Given the description of an element on the screen output the (x, y) to click on. 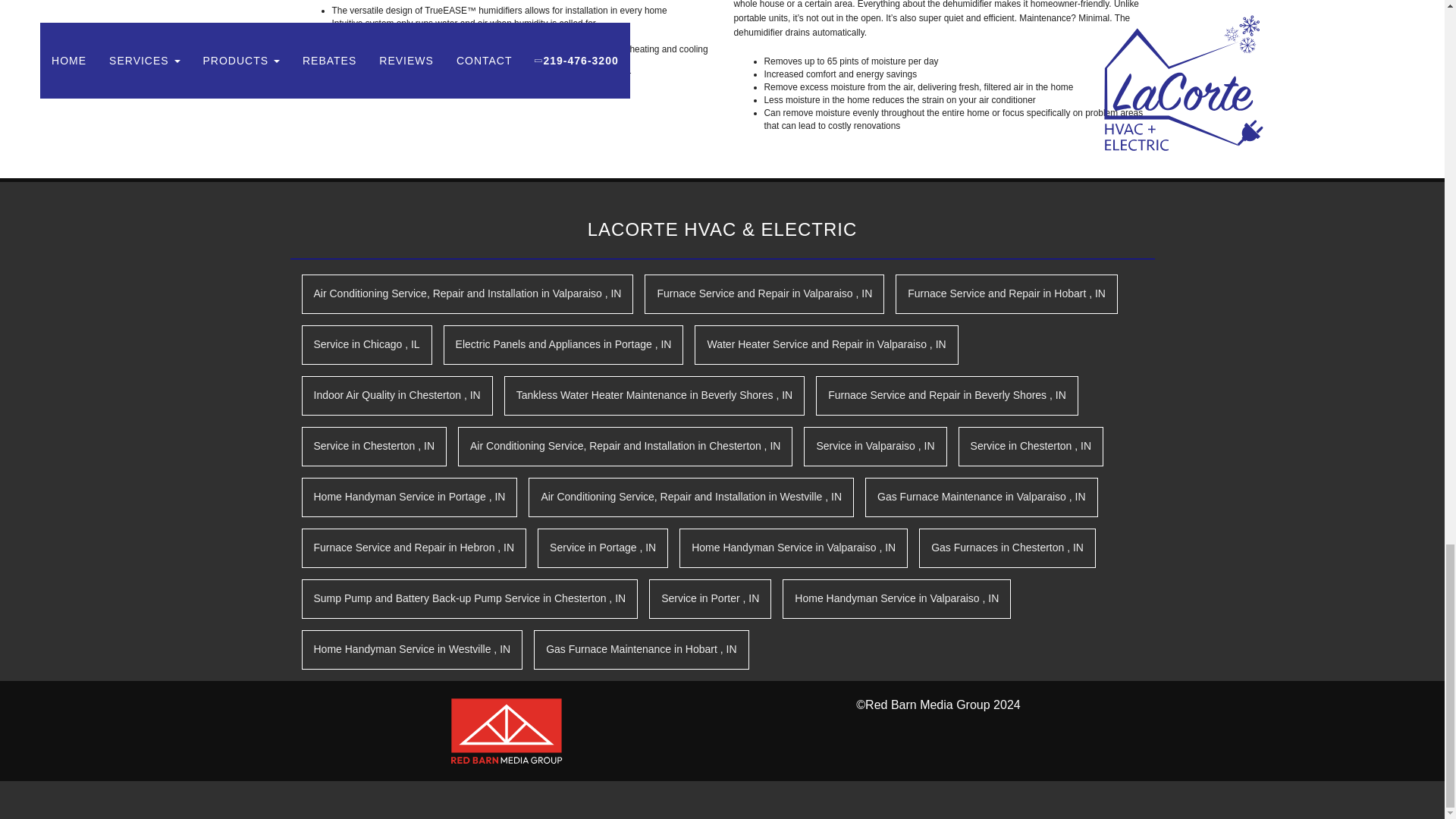
Furnace Service and Repair in Valparaiso , IN (764, 293)
Furnace Service and Repair in Hobart , IN (1006, 293)
Water Heater Service and Repair in Valparaiso , IN (826, 344)
Service in Chicago , IL (366, 344)
Electric Panels and Appliances in Portage , IN (564, 344)
